Given the description of an element on the screen output the (x, y) to click on. 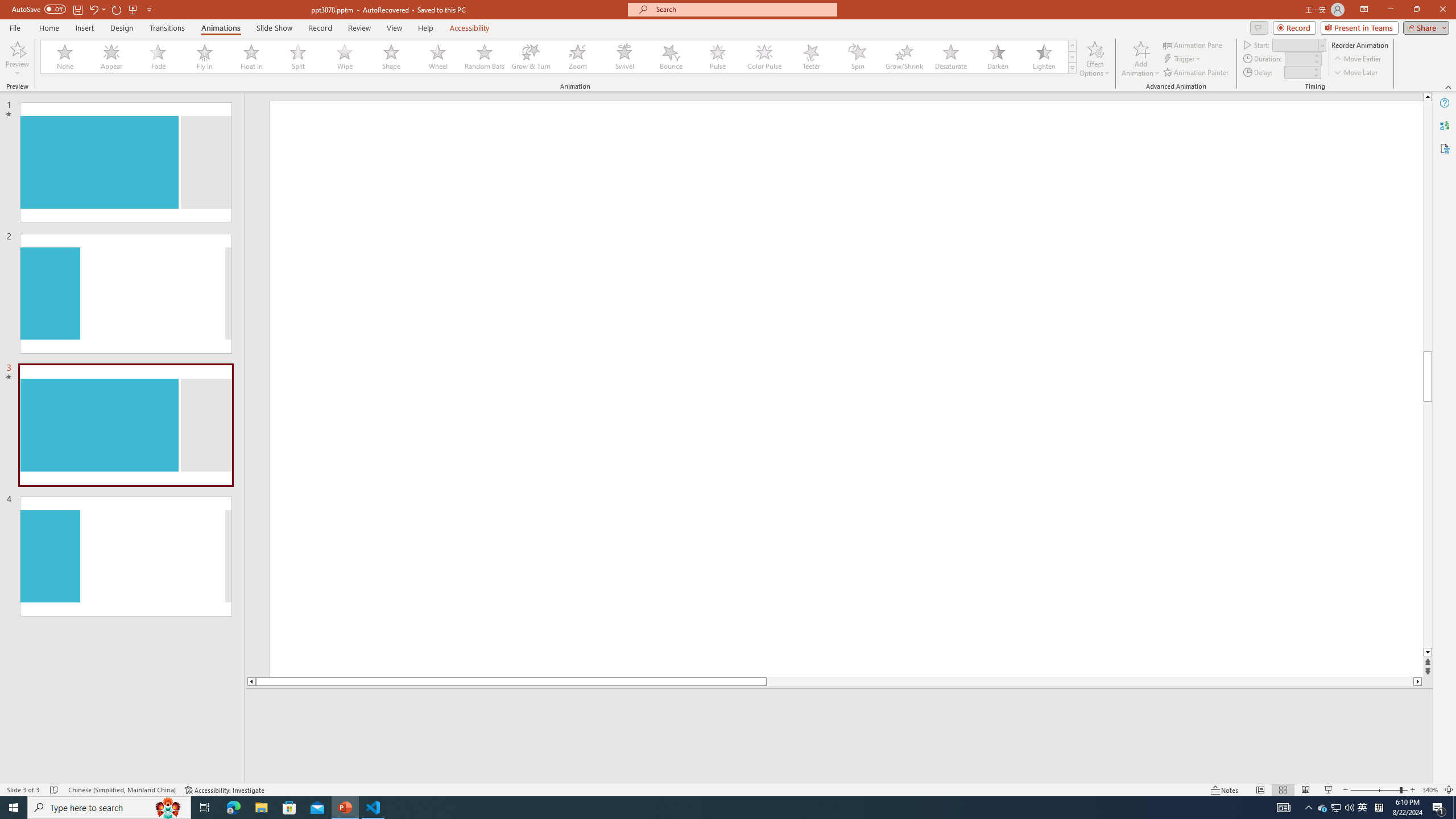
None (65, 56)
Shape (391, 56)
Appear (111, 56)
